Given the description of an element on the screen output the (x, y) to click on. 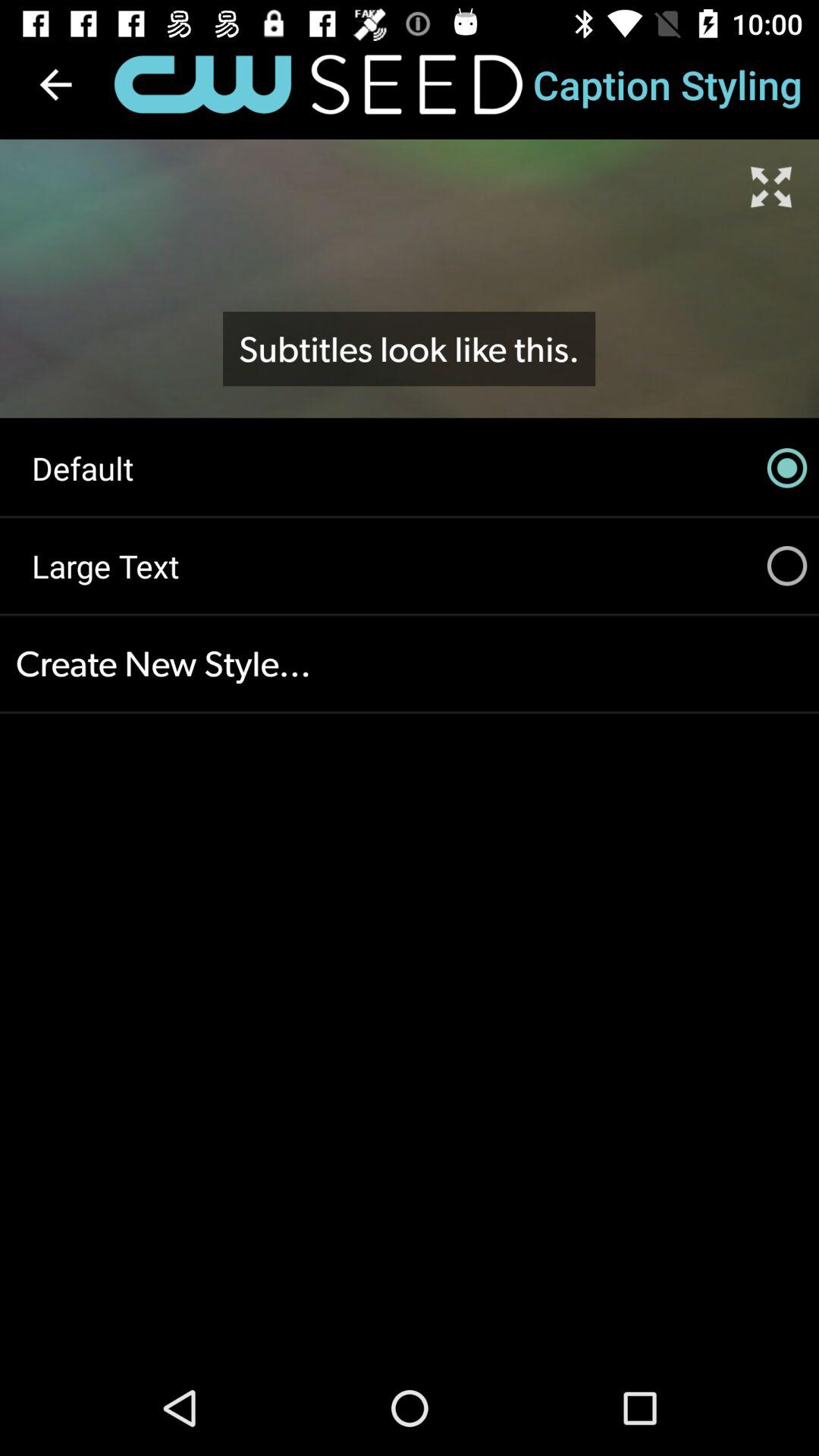
launch the icon above the create new style... (409, 565)
